Given the description of an element on the screen output the (x, y) to click on. 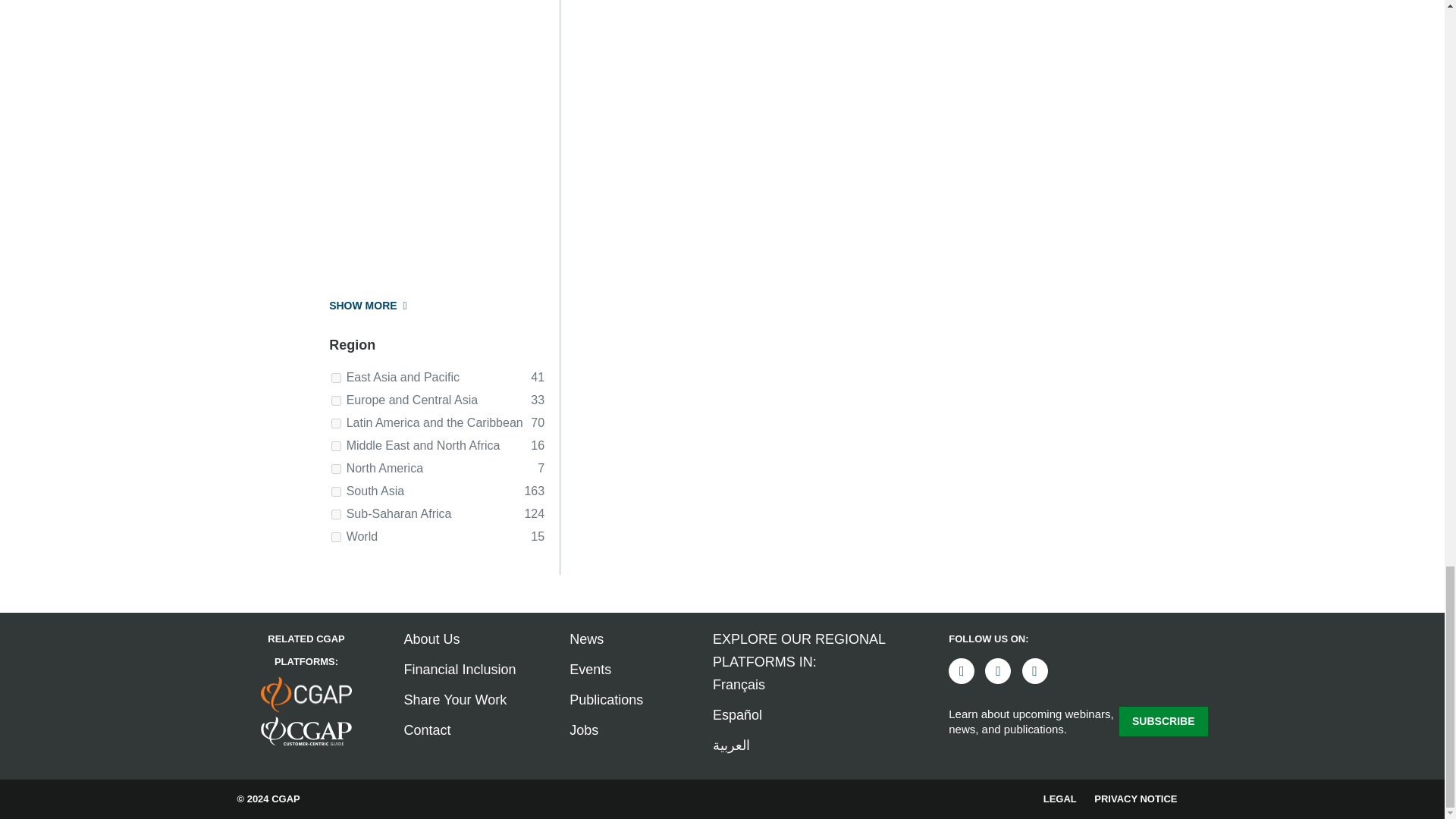
166 (335, 423)
161 (335, 514)
146 (335, 469)
176 (335, 378)
156 (335, 491)
155461 (335, 537)
About Financial Inclusion (459, 669)
151 (335, 446)
171 (335, 400)
